Given the description of an element on the screen output the (x, y) to click on. 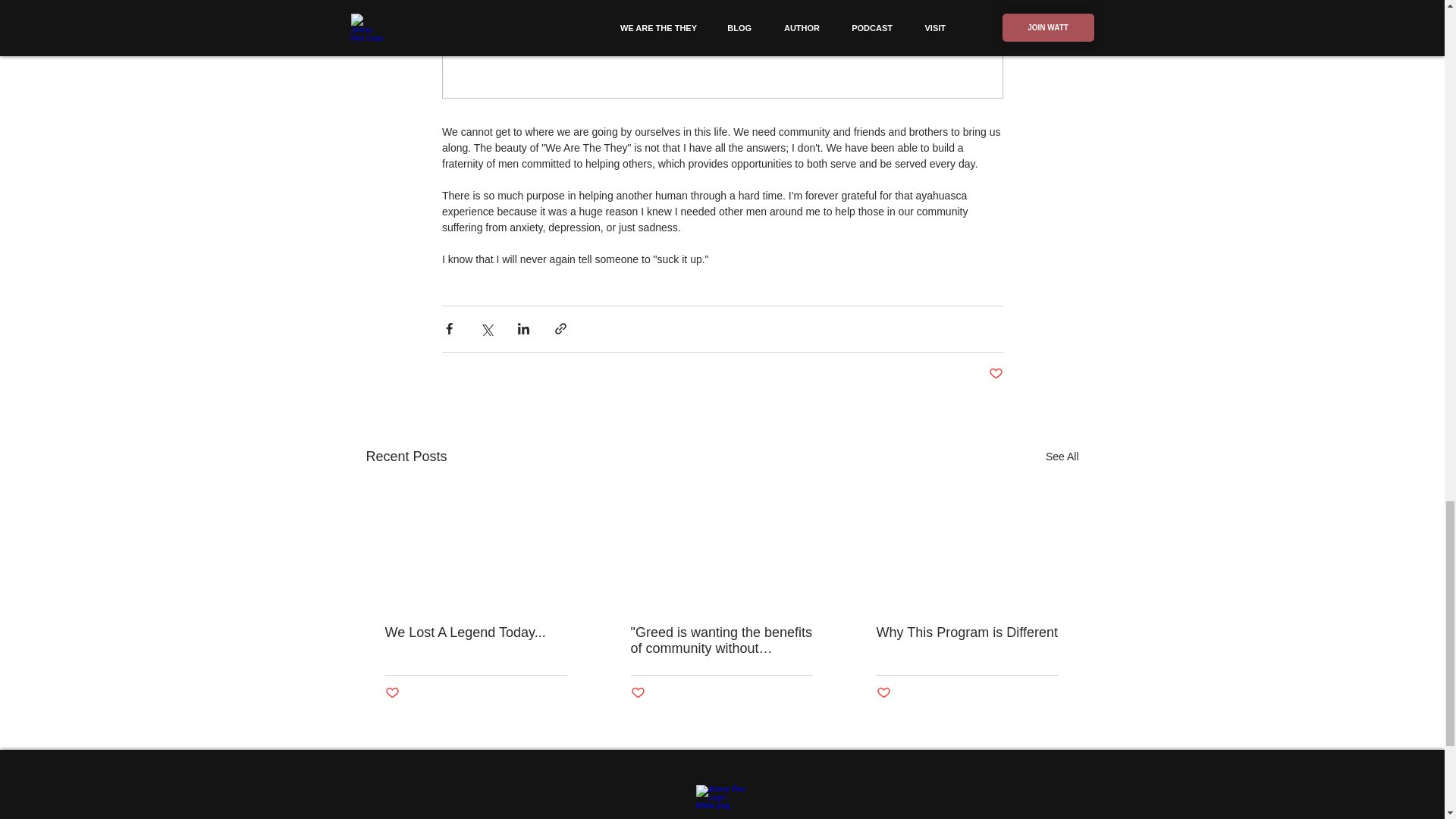
Post not marked as liked (637, 693)
See All (1061, 456)
We Lost A Legend Today... (476, 632)
Post not marked as liked (883, 693)
Post not marked as liked (391, 693)
Post not marked as liked (995, 374)
Why This Program is Different (967, 632)
